Given the description of an element on the screen output the (x, y) to click on. 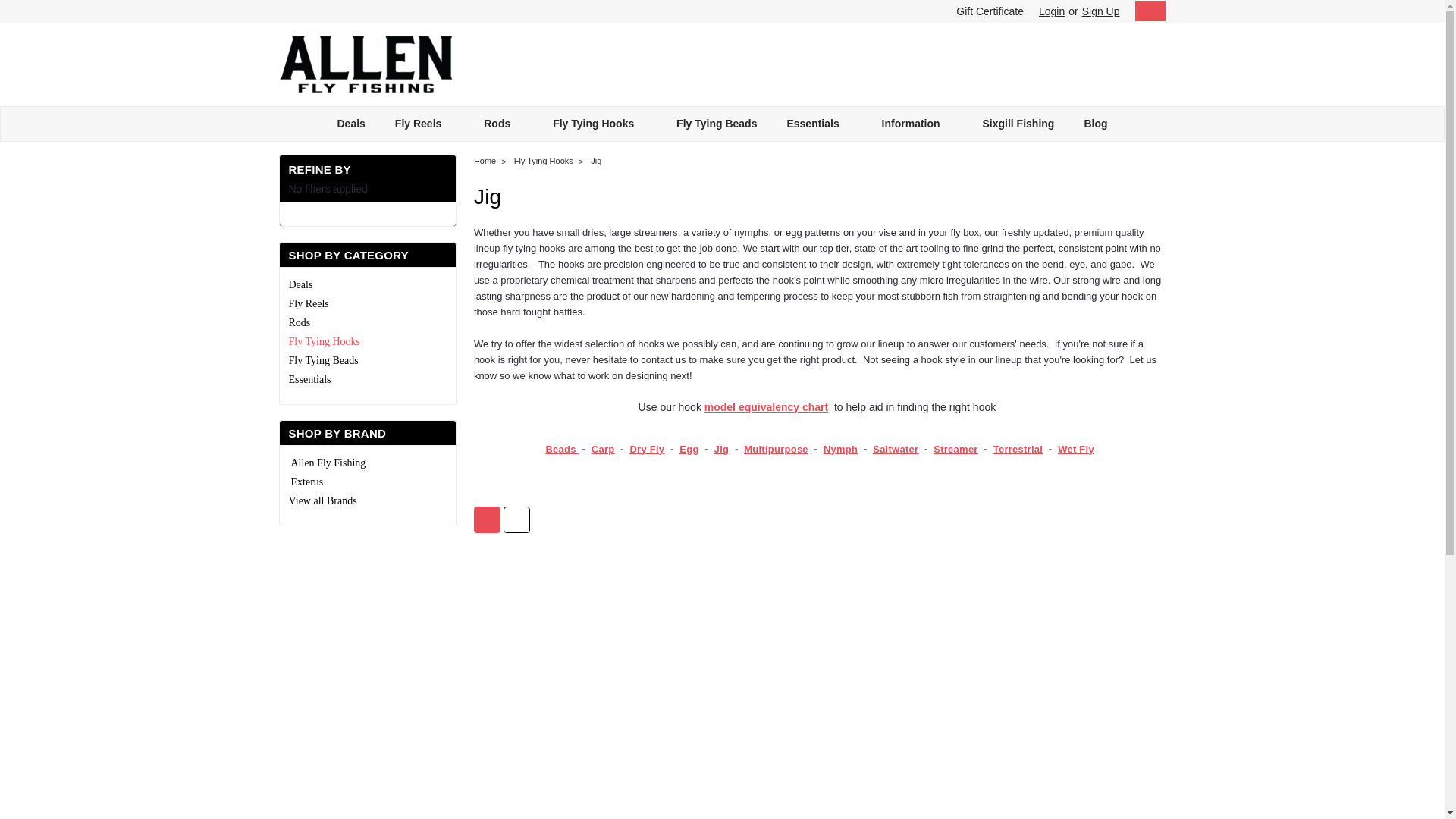
Toggle Grid View (487, 519)
Toggle List View (516, 519)
Sign Up (1098, 11)
Gift Certificate (986, 11)
Allen Fly Fishing (365, 64)
Login (1051, 11)
